Given the description of an element on the screen output the (x, y) to click on. 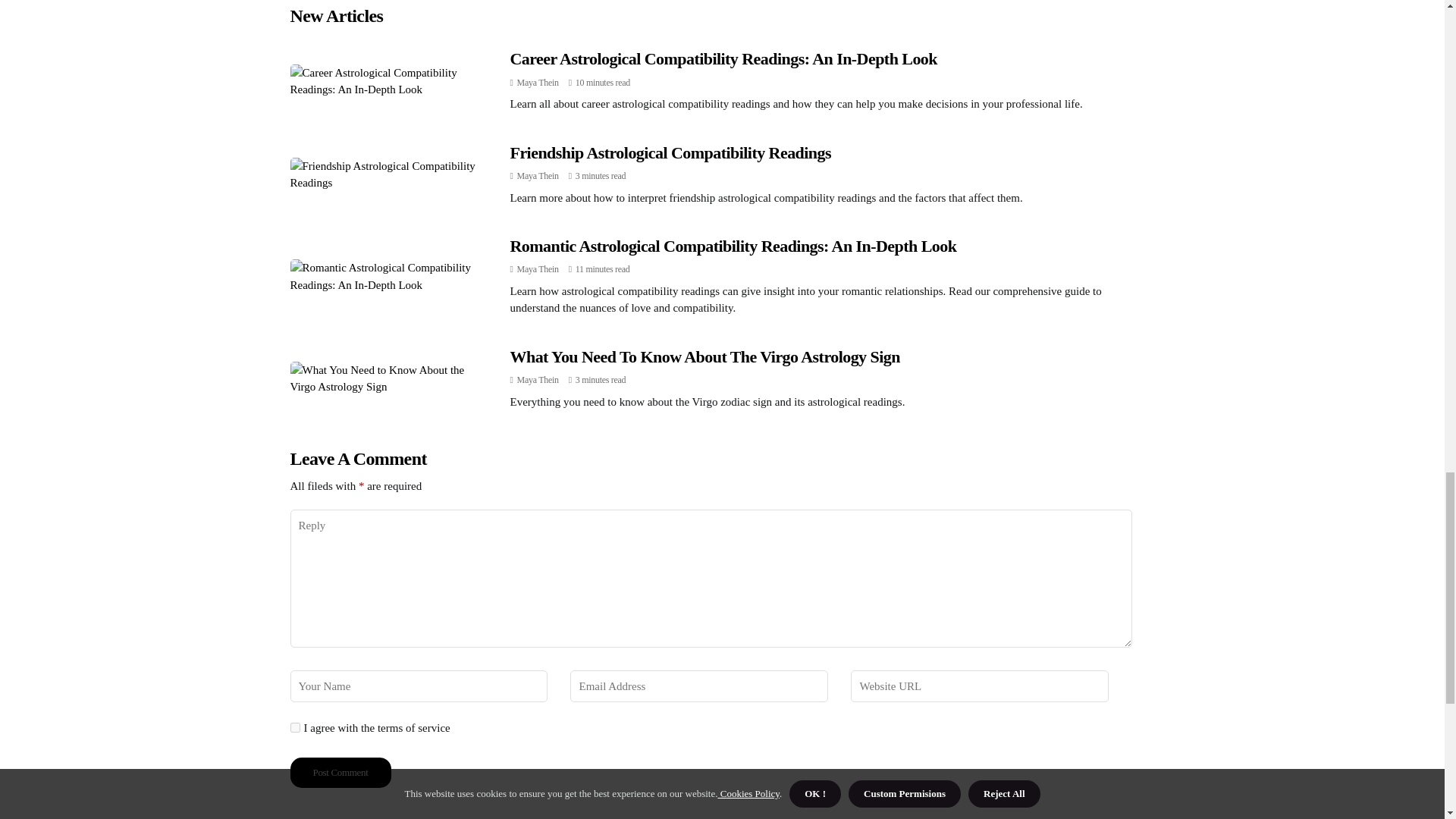
Posts by Maya Thein (537, 81)
yes (294, 727)
Posts by Maya Thein (537, 268)
Posts by Maya Thein (537, 175)
Post Comment (339, 772)
Posts by Maya Thein (537, 379)
